Given the description of an element on the screen output the (x, y) to click on. 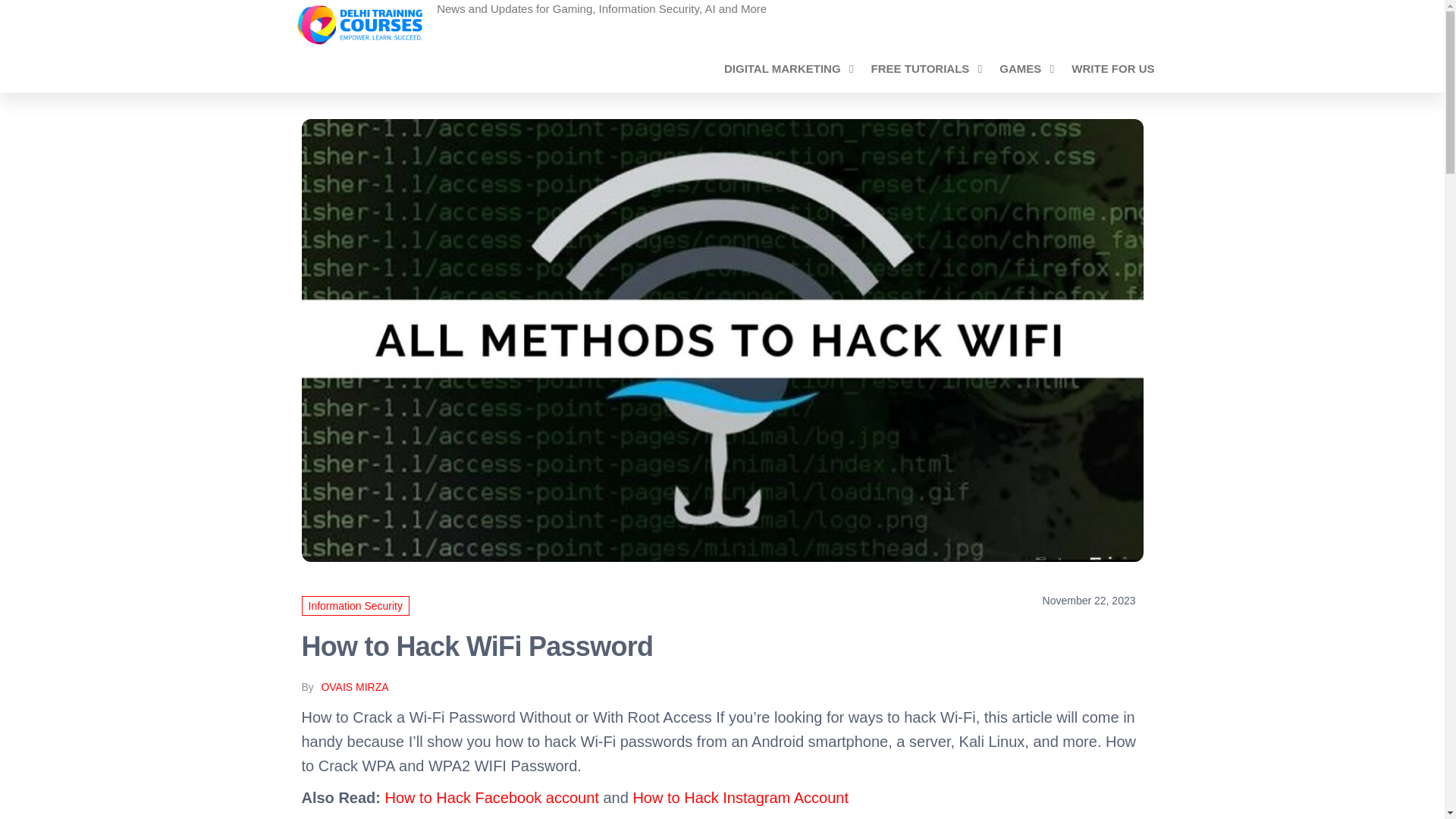
OVAIS MIRZA (354, 686)
How to Hack Instagram Account (739, 797)
How to Hack Facebook account (491, 797)
Digital Marketing (786, 68)
Information Security (355, 605)
DIGITAL MARKETING (786, 68)
Gaming News and Updates (568, 13)
WRITE FOR US (1112, 68)
FREE TUTORIALS (924, 68)
GAMES (1023, 68)
Free Tutorials (924, 68)
